Given the description of an element on the screen output the (x, y) to click on. 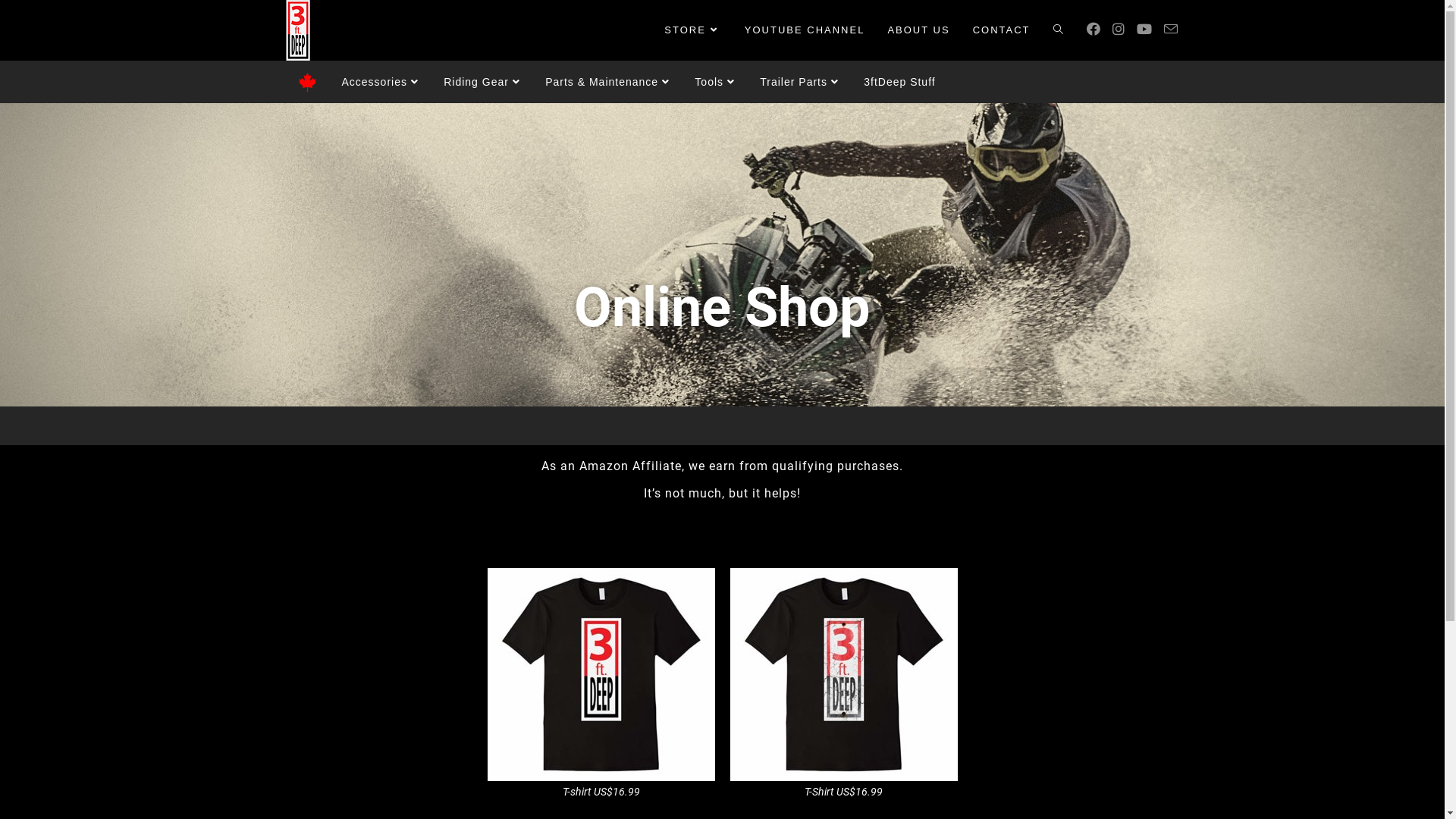
Accessories Element type: text (379, 81)
ABOUT US Element type: text (917, 30)
Tools Element type: text (714, 81)
YOUTUBE CHANNEL Element type: text (804, 30)
3ftDeep Stuff Element type: text (899, 81)
STORE Element type: text (692, 30)
Trailer Parts Element type: text (799, 81)
CONTACT Element type: text (1001, 30)
Riding Gear Element type: text (481, 81)
Parts & Maintenance Element type: text (606, 81)
